Given the description of an element on the screen output the (x, y) to click on. 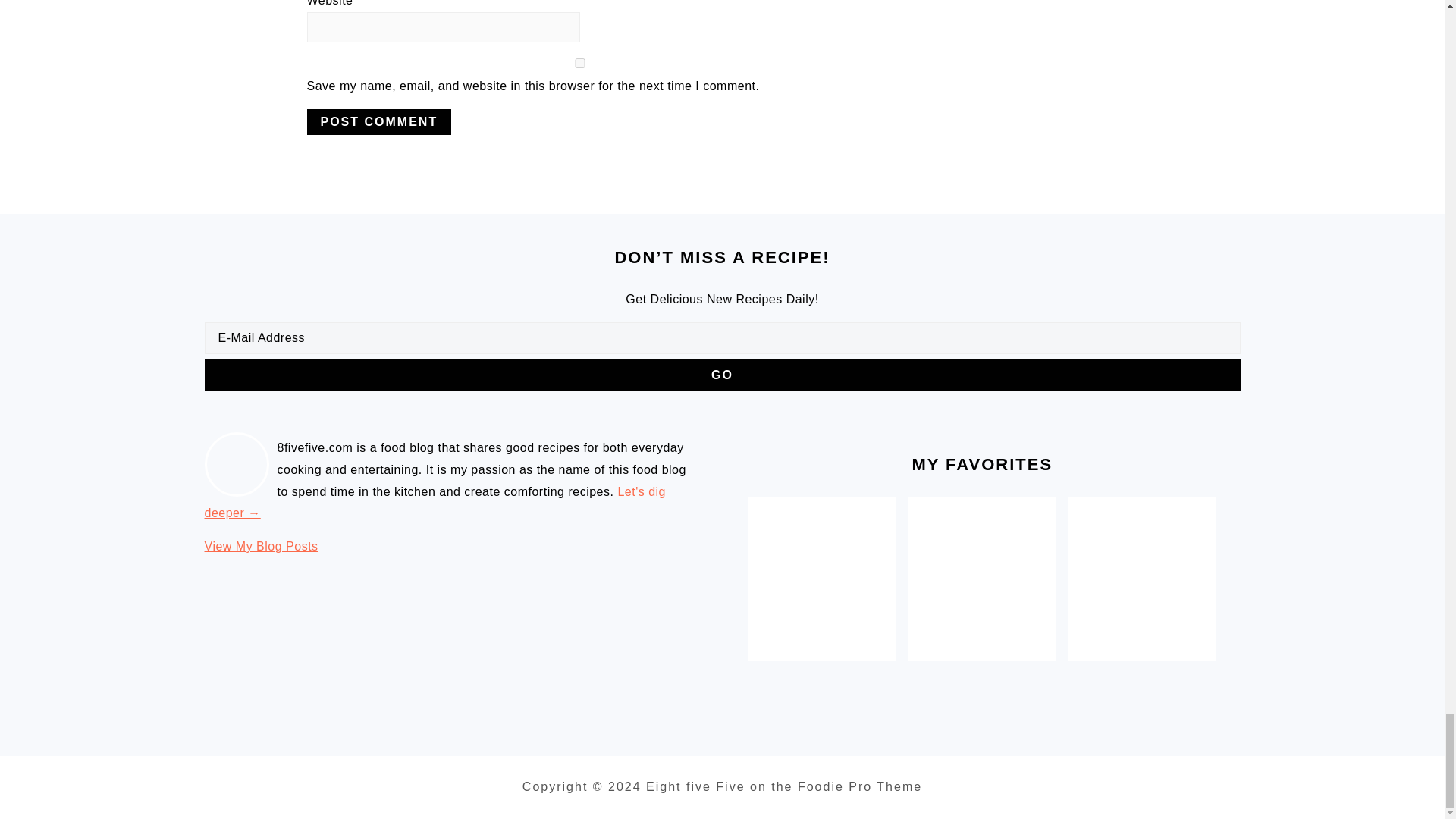
Blueberry Cream Cheese Coffee Cake (822, 570)
Old-Fashioned Apple Dumplings (982, 570)
Go (722, 375)
Italian Apple Cake (1141, 570)
Post Comment (378, 121)
Post Comment (378, 121)
Go (261, 545)
yes (722, 375)
